Given the description of an element on the screen output the (x, y) to click on. 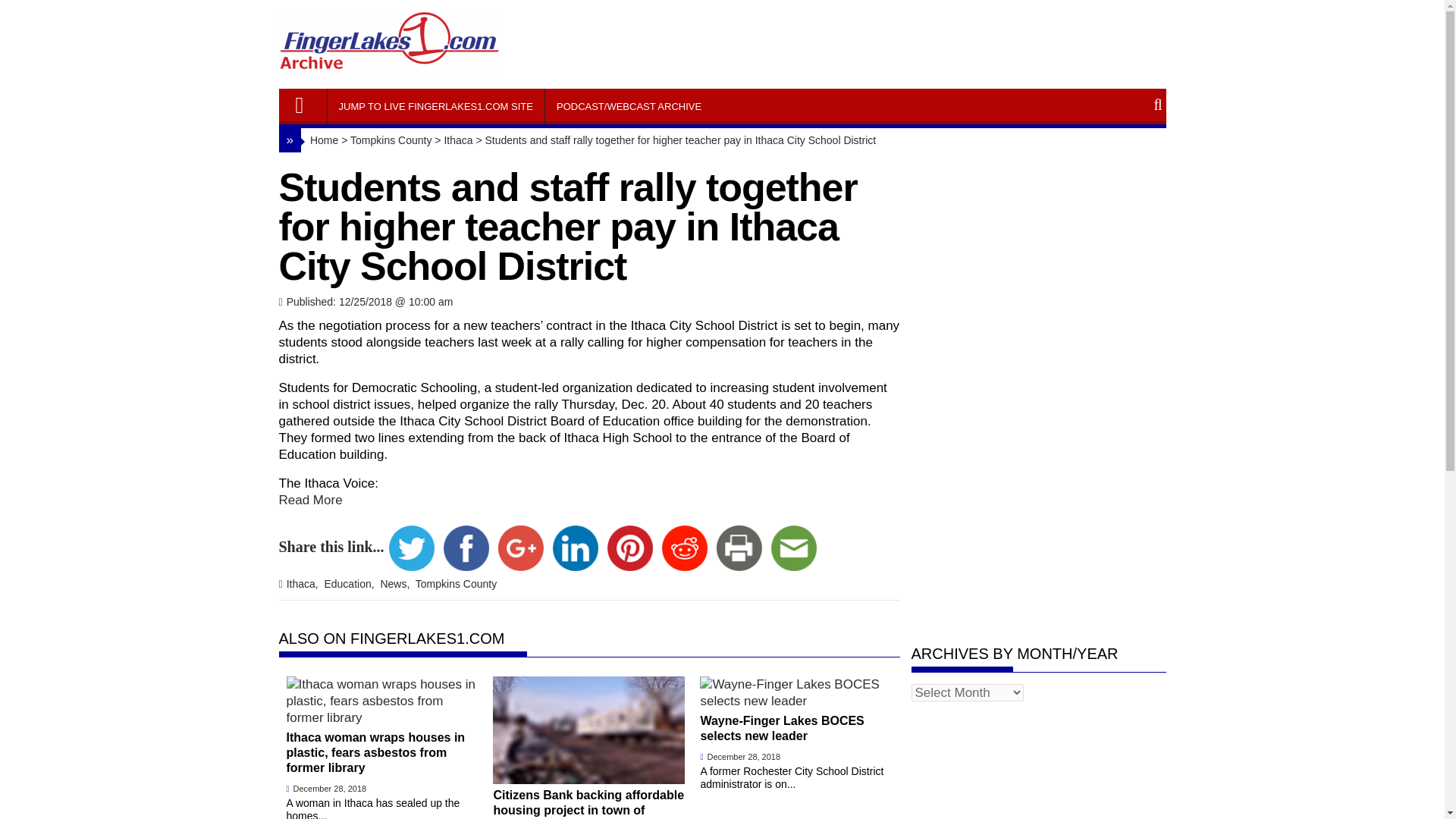
Education (350, 583)
Tompkins County (455, 583)
Ithaca (303, 583)
News (396, 583)
google (520, 547)
FingerLakes1.com Archive (306, 101)
Tompkins County (390, 140)
pinterest (630, 547)
